Given the description of an element on the screen output the (x, y) to click on. 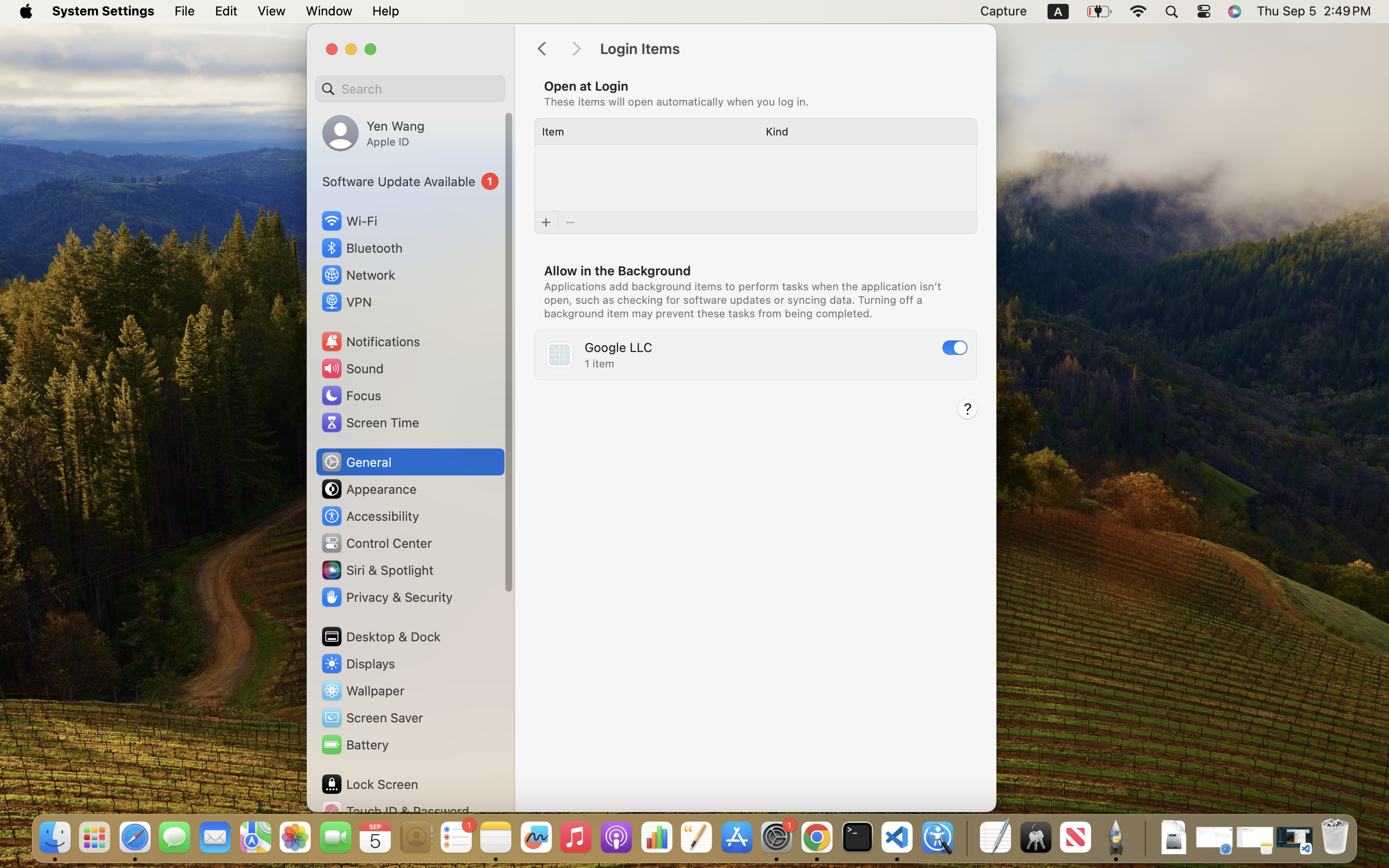
Focus Element type: AXStaticText (350, 394)
Screen Time Element type: AXStaticText (369, 422)
Accessibility Element type: AXStaticText (369, 515)
Battery Element type: AXStaticText (354, 744)
1 Element type: AXStaticText (410, 180)
